Given the description of an element on the screen output the (x, y) to click on. 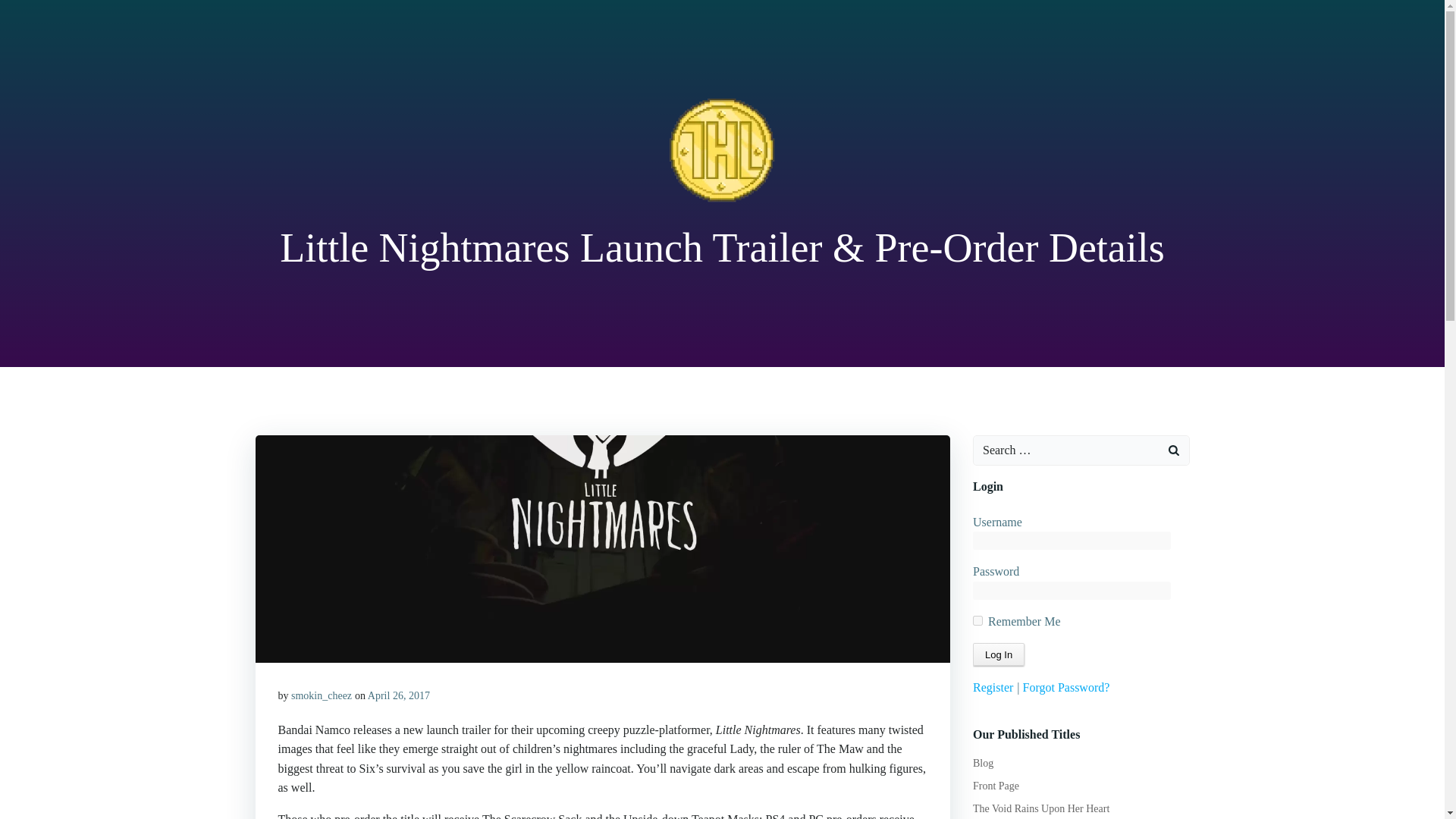
Forgot Password? (1066, 686)
Search  (29, 14)
Log In (998, 653)
April 26, 2017 (398, 695)
The Void Rains Upon Her Heart (1040, 808)
Front Page (995, 785)
Register (992, 686)
Register (992, 686)
Forgot Password (1066, 686)
Log In (998, 653)
forever (977, 620)
Blog (982, 763)
